Given the description of an element on the screen output the (x, y) to click on. 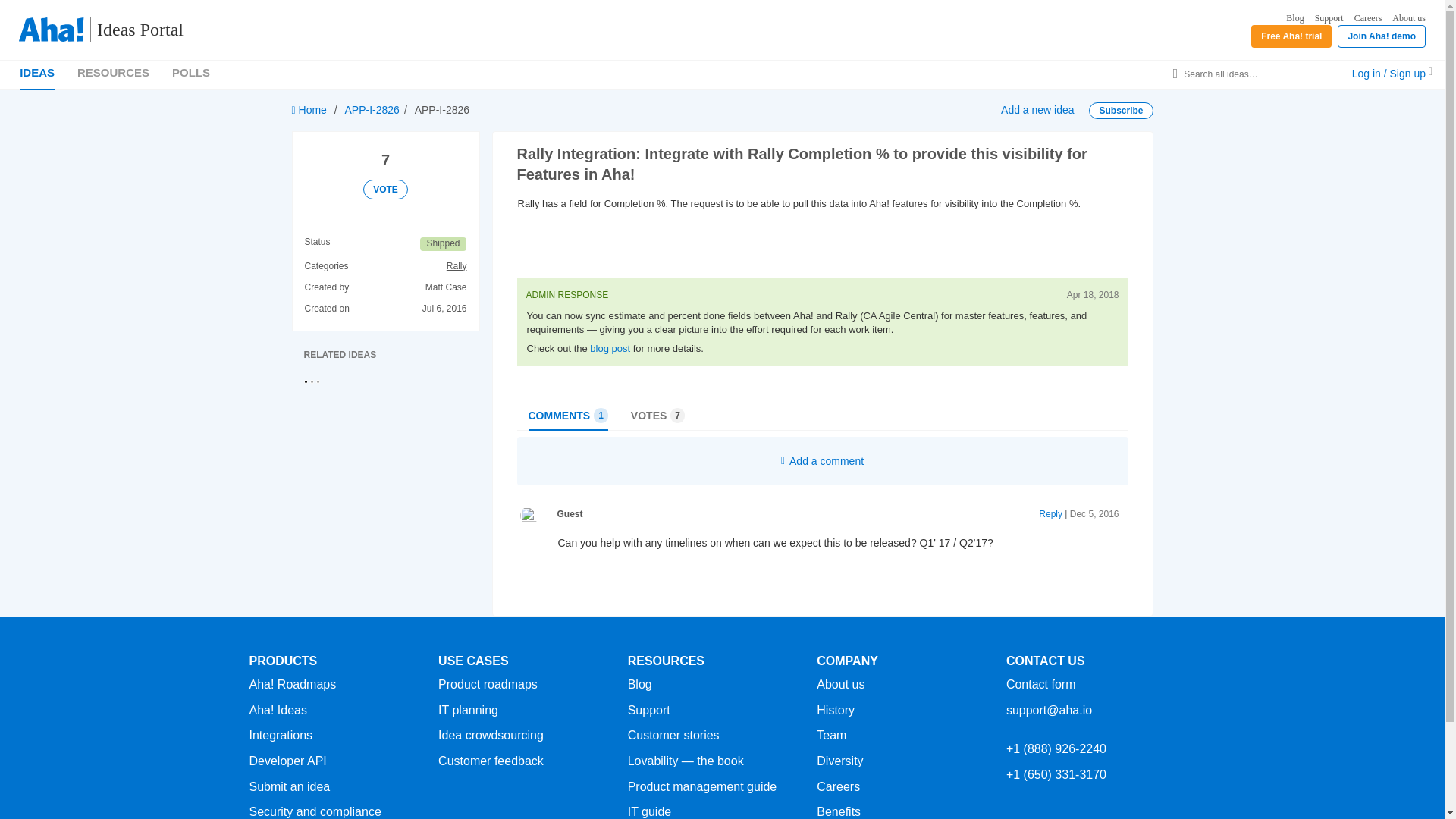
Careers (1367, 18)
Blog (1294, 18)
Add a new idea (1037, 110)
Ideas Portal (133, 30)
blog post (609, 348)
Subscribe (1121, 110)
Reply (1050, 513)
POLLS (190, 72)
About us (1408, 18)
IDEAS (37, 72)
